Given the description of an element on the screen output the (x, y) to click on. 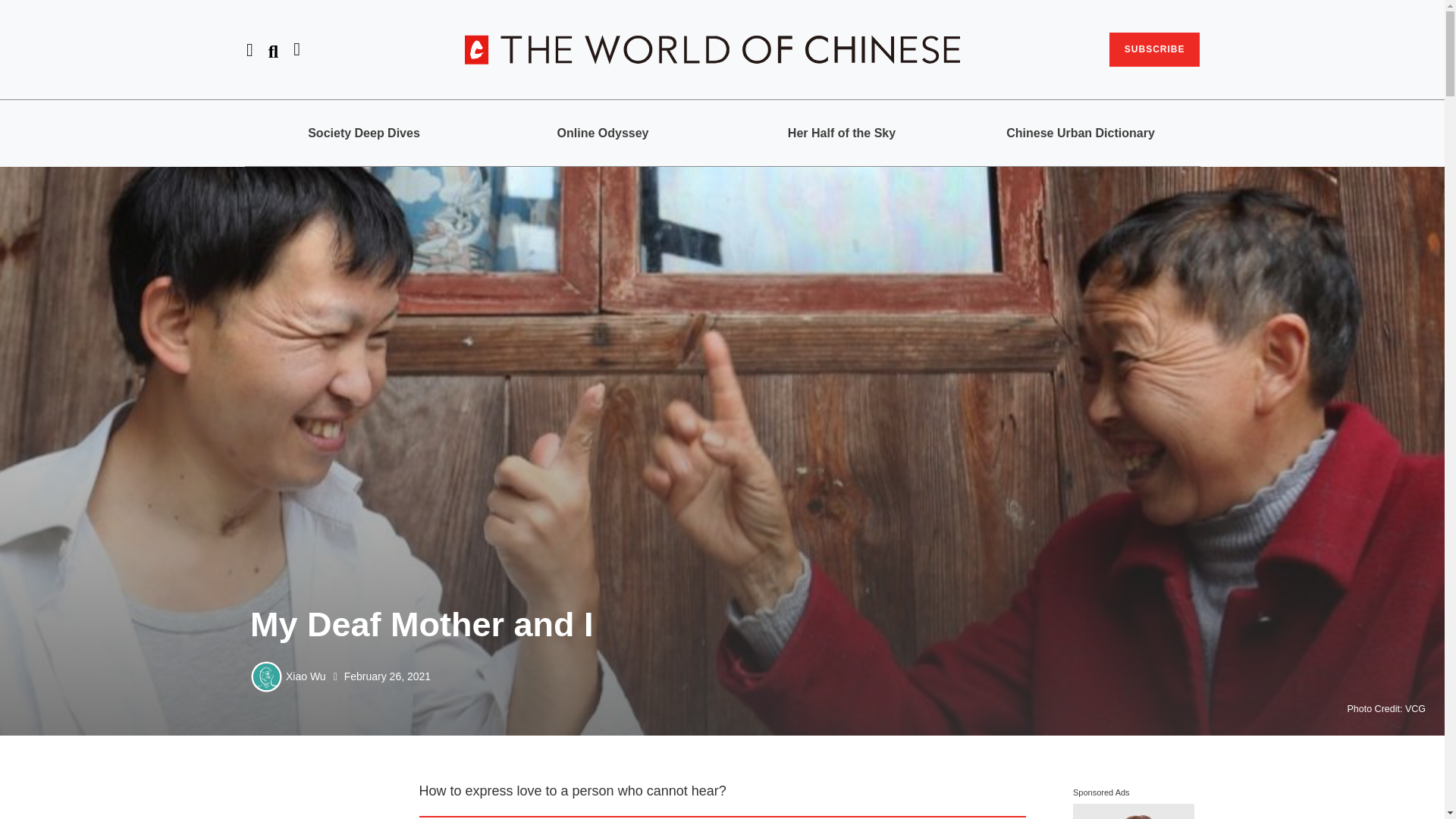
Posts by Xiao Wu (305, 676)
